Given the description of an element on the screen output the (x, y) to click on. 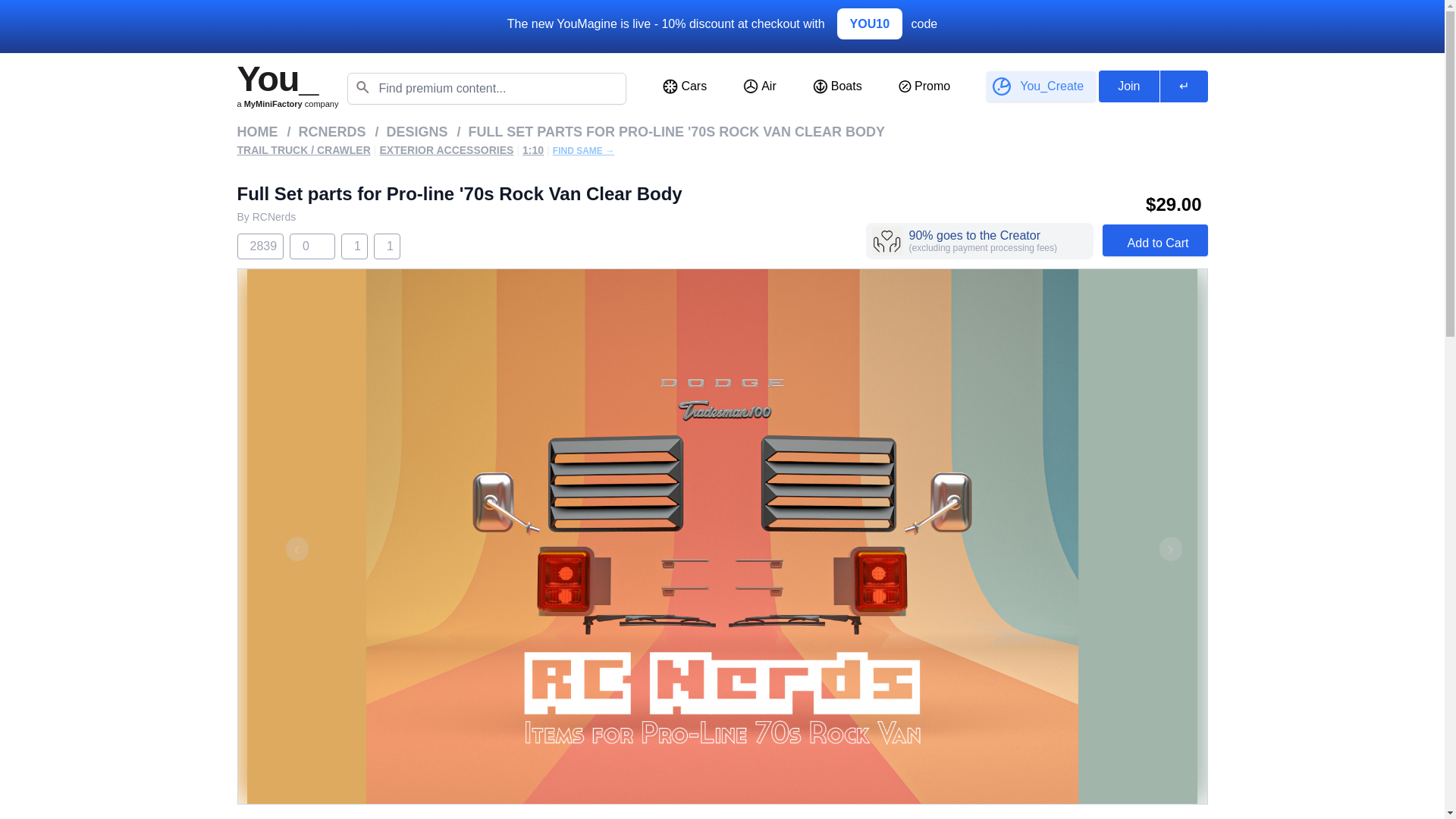
Cars (684, 86)
1 (387, 246)
Boats (836, 86)
1 (354, 246)
Air (759, 86)
 Promo (924, 86)
0 (302, 246)
HOME (256, 131)
RCNerds (274, 216)
 YOU10 (869, 23)
1:10 (532, 150)
  Add to Cart (1155, 240)
EXTERIOR ACCESSORIES (445, 150)
Join (1128, 86)
DESIGNS (417, 131)
